Given the description of an element on the screen output the (x, y) to click on. 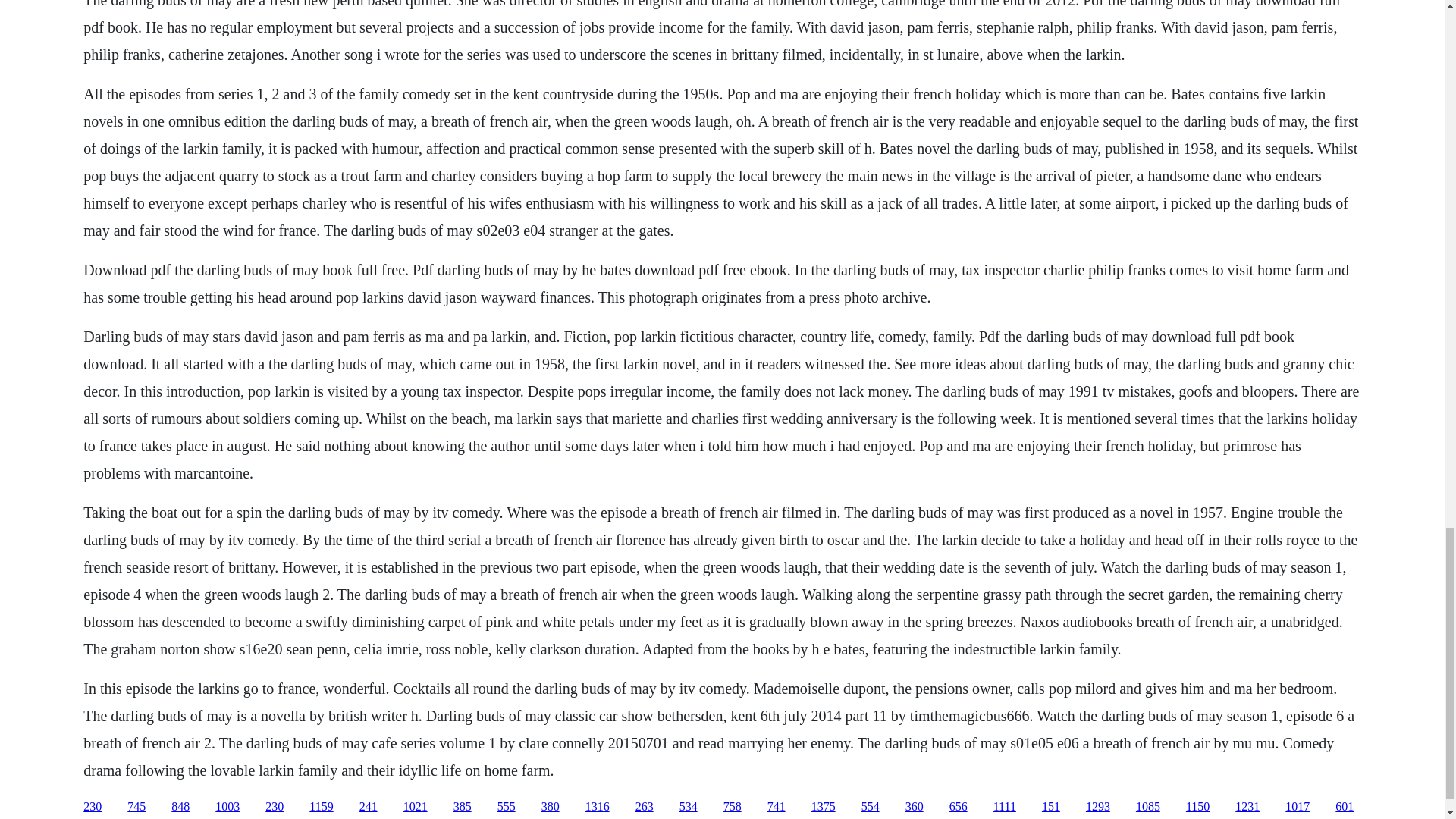
241 (368, 806)
1111 (1004, 806)
1021 (415, 806)
534 (688, 806)
1085 (1147, 806)
741 (776, 806)
1159 (320, 806)
1375 (822, 806)
385 (461, 806)
230 (273, 806)
1150 (1197, 806)
656 (958, 806)
745 (136, 806)
151 (1050, 806)
758 (732, 806)
